Given the description of an element on the screen output the (x, y) to click on. 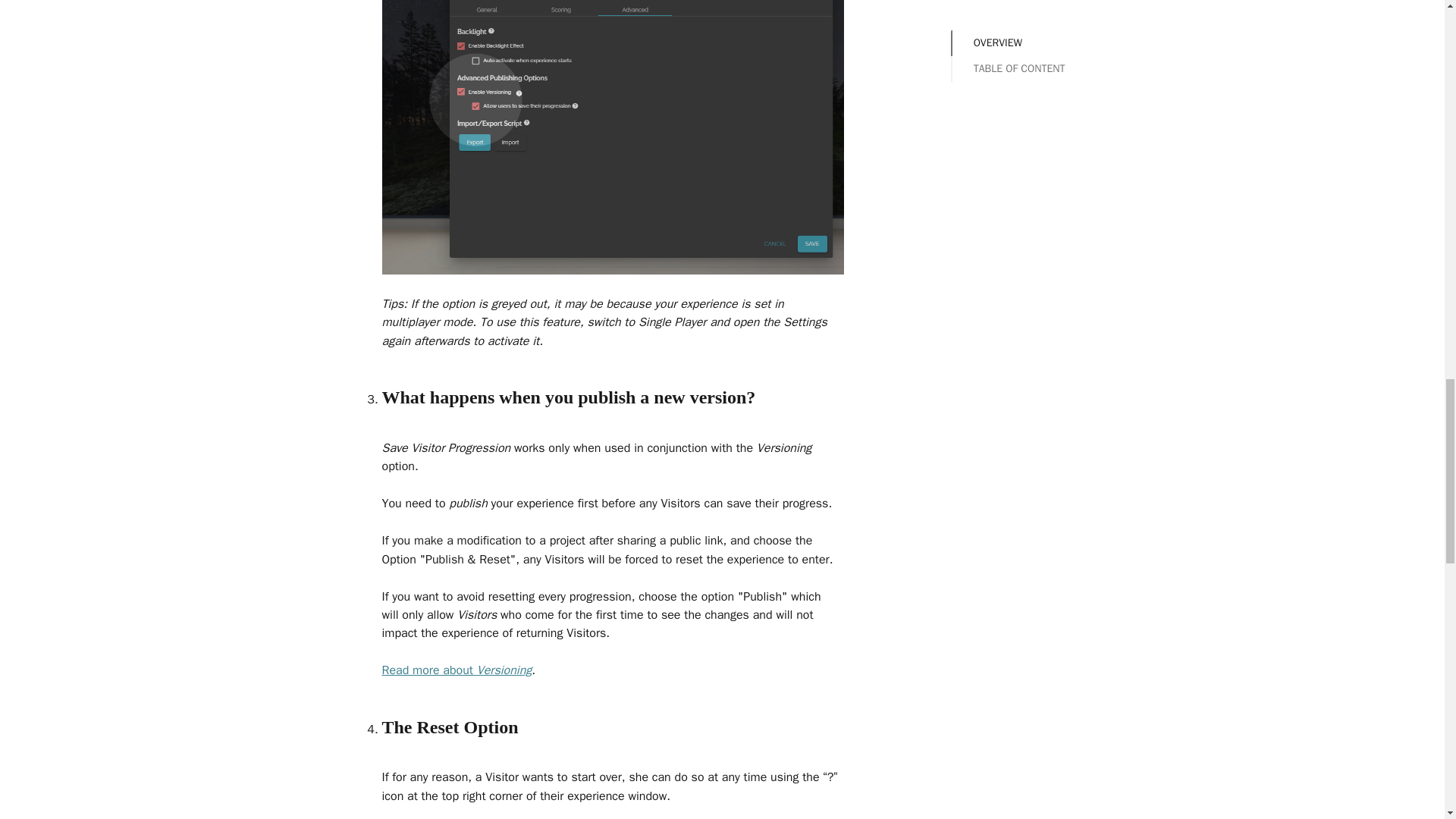
Read more about Versioning (456, 670)
